Given the description of an element on the screen output the (x, y) to click on. 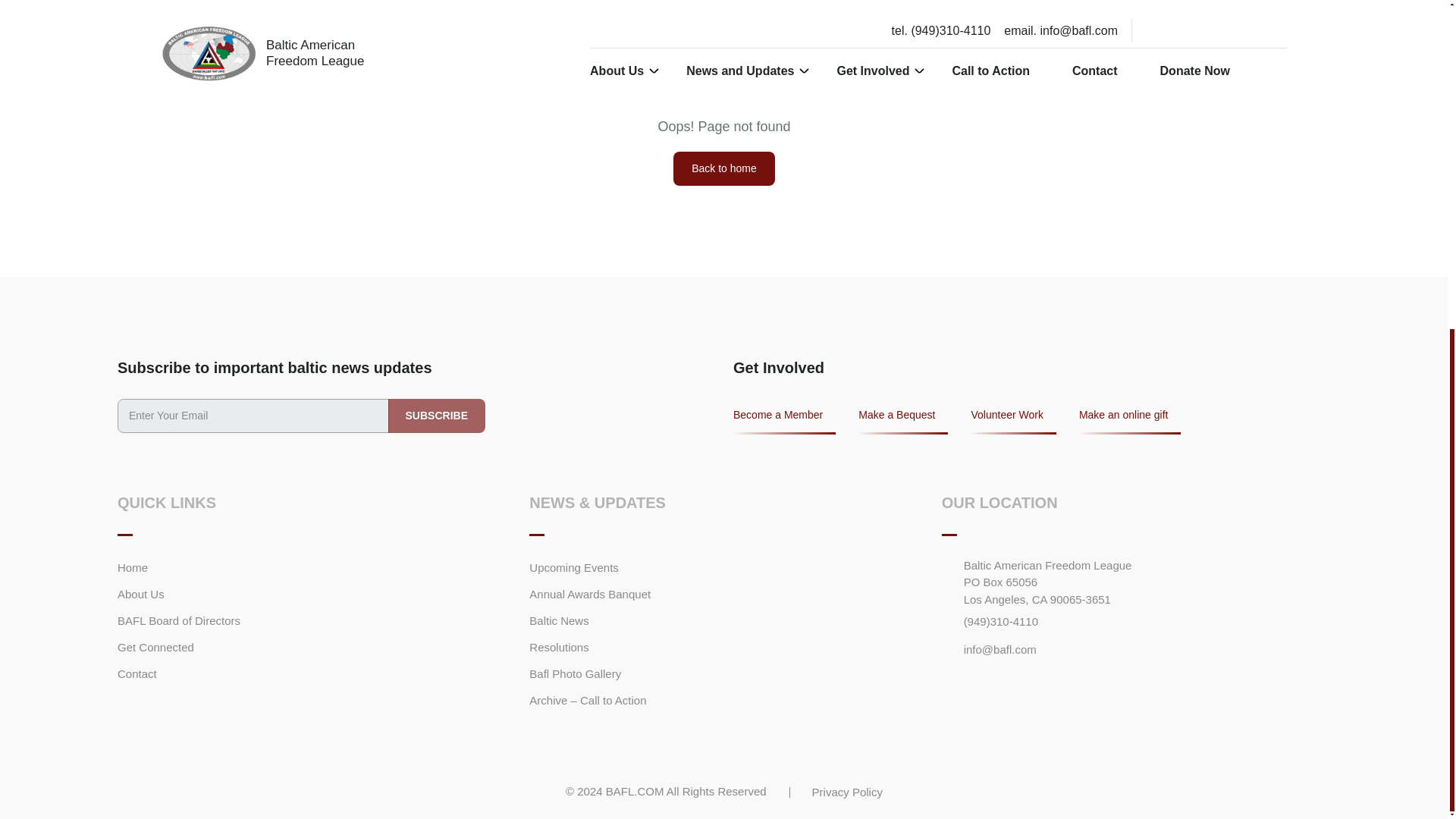
Volunteer Work (1013, 420)
Back to home (723, 168)
QUICK LINKS (166, 502)
BAFL Board of Directors (178, 620)
Home (132, 568)
Make a Bequest (903, 420)
About Us (140, 594)
Subscribe (436, 415)
Become a Member (784, 420)
Make an online gift (1129, 420)
Subscribe (436, 415)
